Given the description of an element on the screen output the (x, y) to click on. 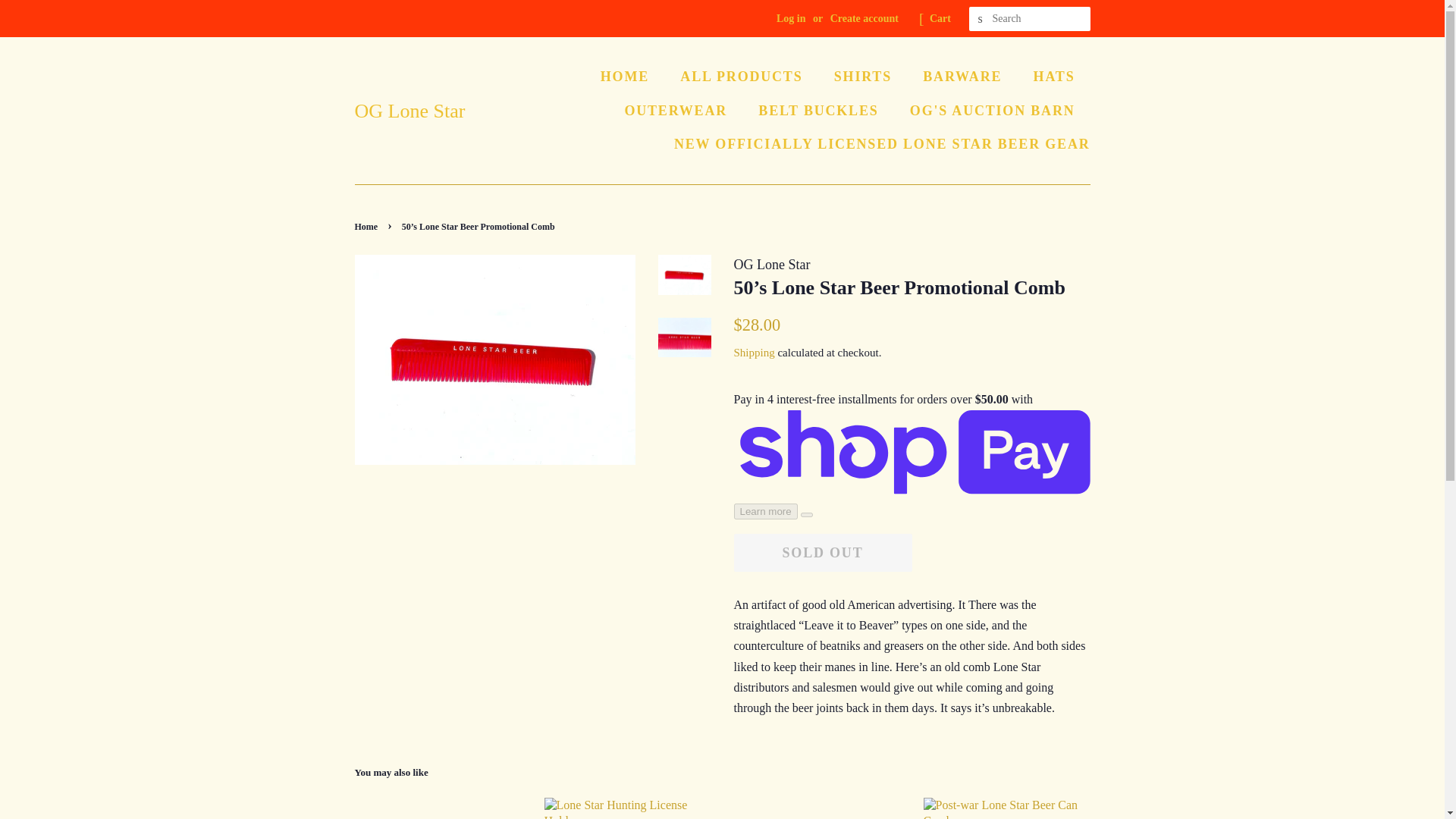
BARWARE (963, 76)
Home (368, 226)
SHIRTS (864, 76)
BELT BUCKLES (819, 110)
OUTERWEAR (677, 110)
Create account (863, 18)
NEW OFFICIALLY LICENSED LONE STAR BEER GEAR (876, 144)
Cart (940, 18)
HOME (631, 76)
OG Lone Star (410, 110)
SOLD OUT (822, 552)
SEARCH (980, 18)
ALL PRODUCTS (742, 76)
Shipping (753, 352)
Back to the frontpage (368, 226)
